Given the description of an element on the screen output the (x, y) to click on. 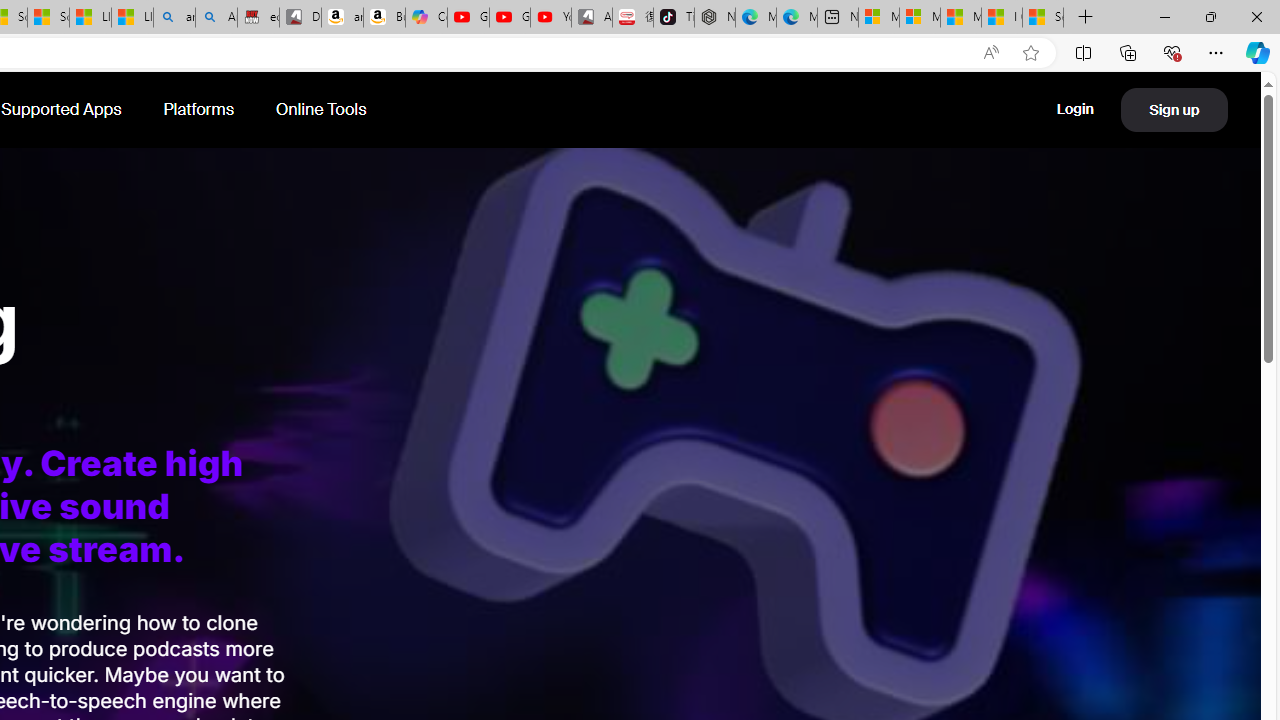
Gloom - YouTube (509, 17)
YouTube Kids - An App Created for Kids to Explore Content (550, 17)
Amazon Echo Dot PNG - Search Images (215, 17)
Supported Apps  (63, 109)
I Gained 20 Pounds of Muscle in 30 Days! | Watch (1001, 17)
